Given the description of an element on the screen output the (x, y) to click on. 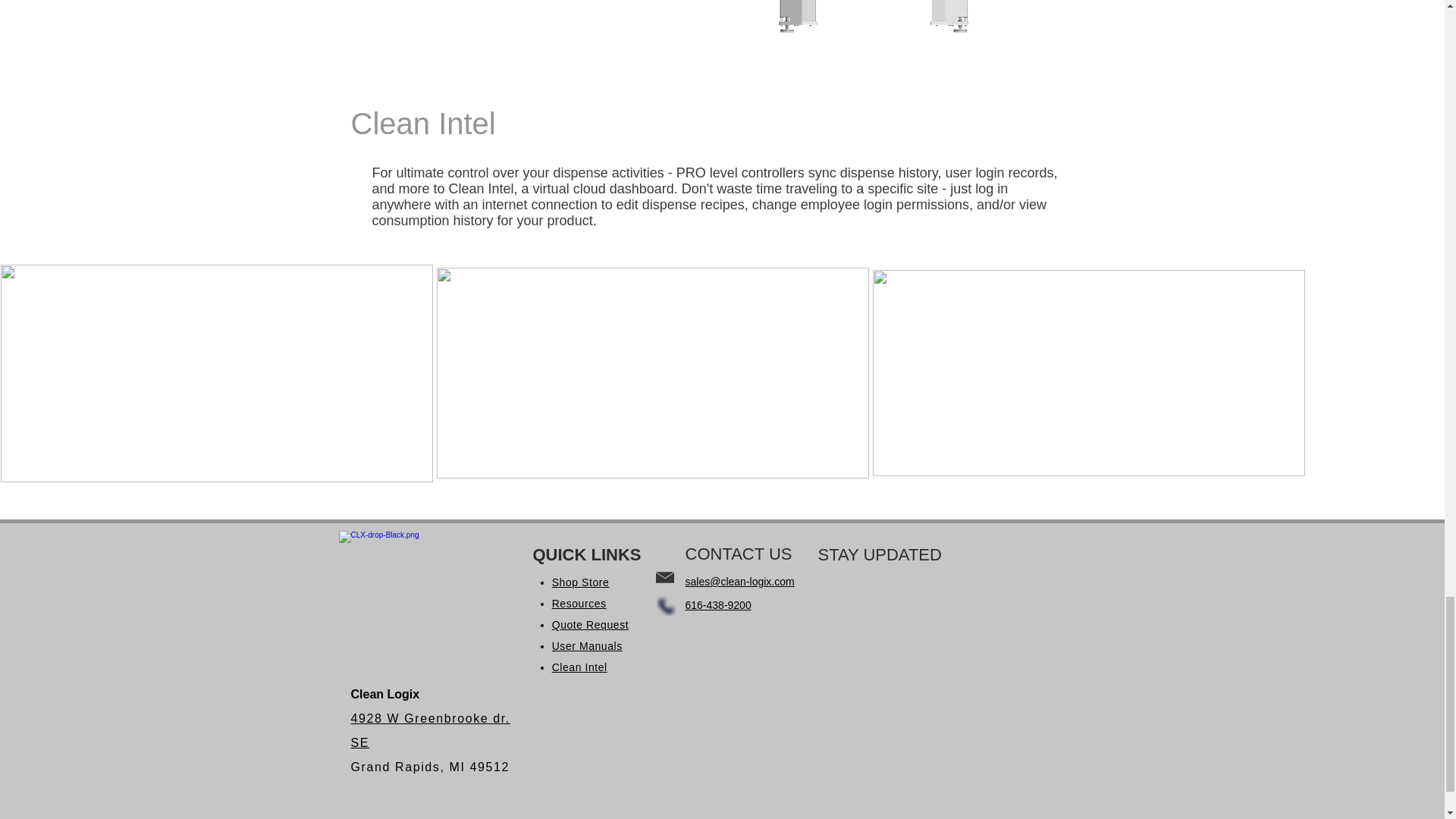
Shop Store (580, 582)
User Manuals (587, 645)
Quote Request (589, 624)
4928 W Greenbrooke dr. SE (429, 730)
Clean Logix (419, 568)
616-438-9200 (718, 604)
Clean Intel (579, 666)
Resources (579, 603)
